Given the description of an element on the screen output the (x, y) to click on. 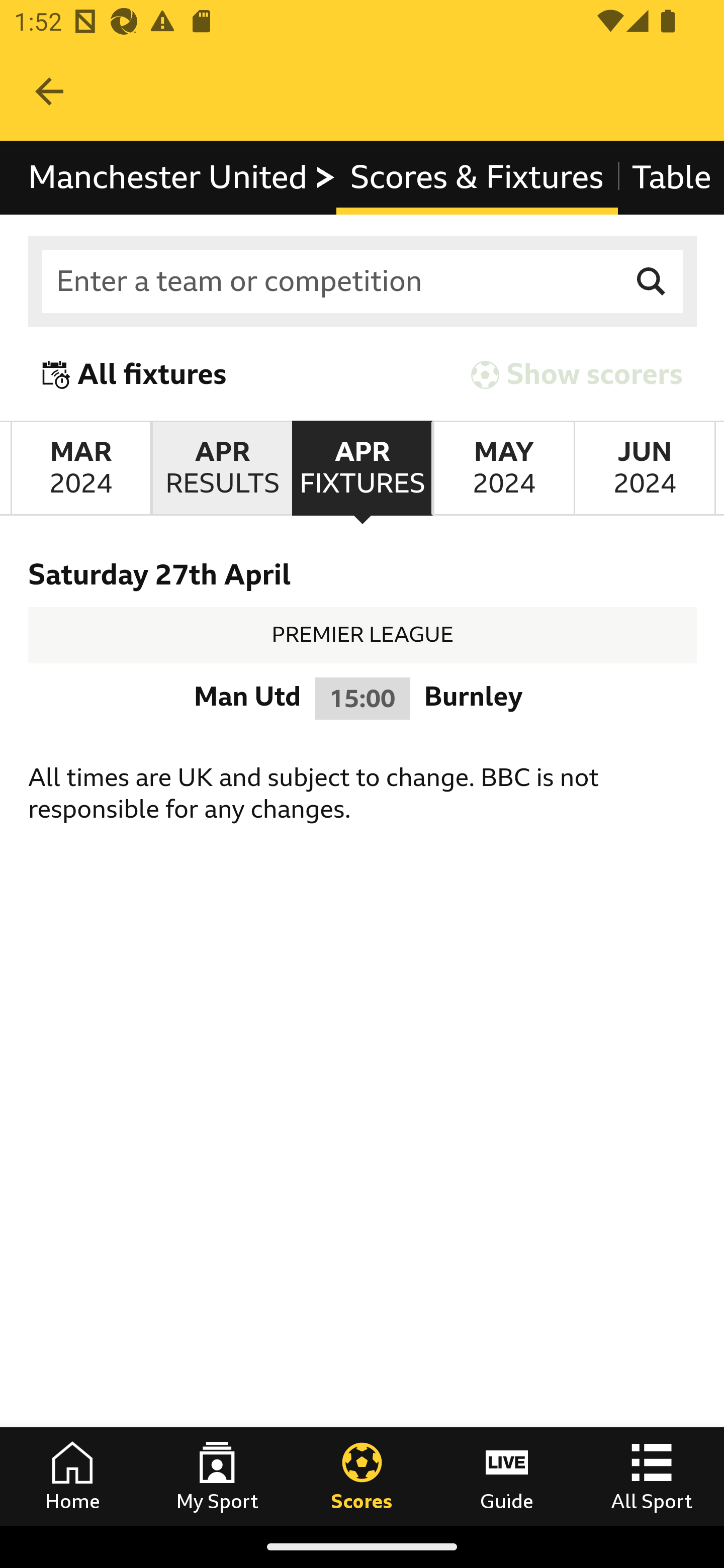
Navigate up (49, 91)
Manchester United  (183, 177)
Scores & Fixtures (476, 177)
Table (670, 177)
Search (651, 282)
All fixtures (134, 374)
Show scorers (576, 374)
March2024 March 2024 (80, 468)
AprilRESULTS April RESULTS (221, 468)
AprilFIXTURES, Selected April FIXTURES , Selected (361, 468)
May2024 May 2024 (502, 468)
June2024 June 2024 (644, 468)
Home (72, 1475)
My Sport (216, 1475)
Guide (506, 1475)
All Sport (651, 1475)
